Given the description of an element on the screen output the (x, y) to click on. 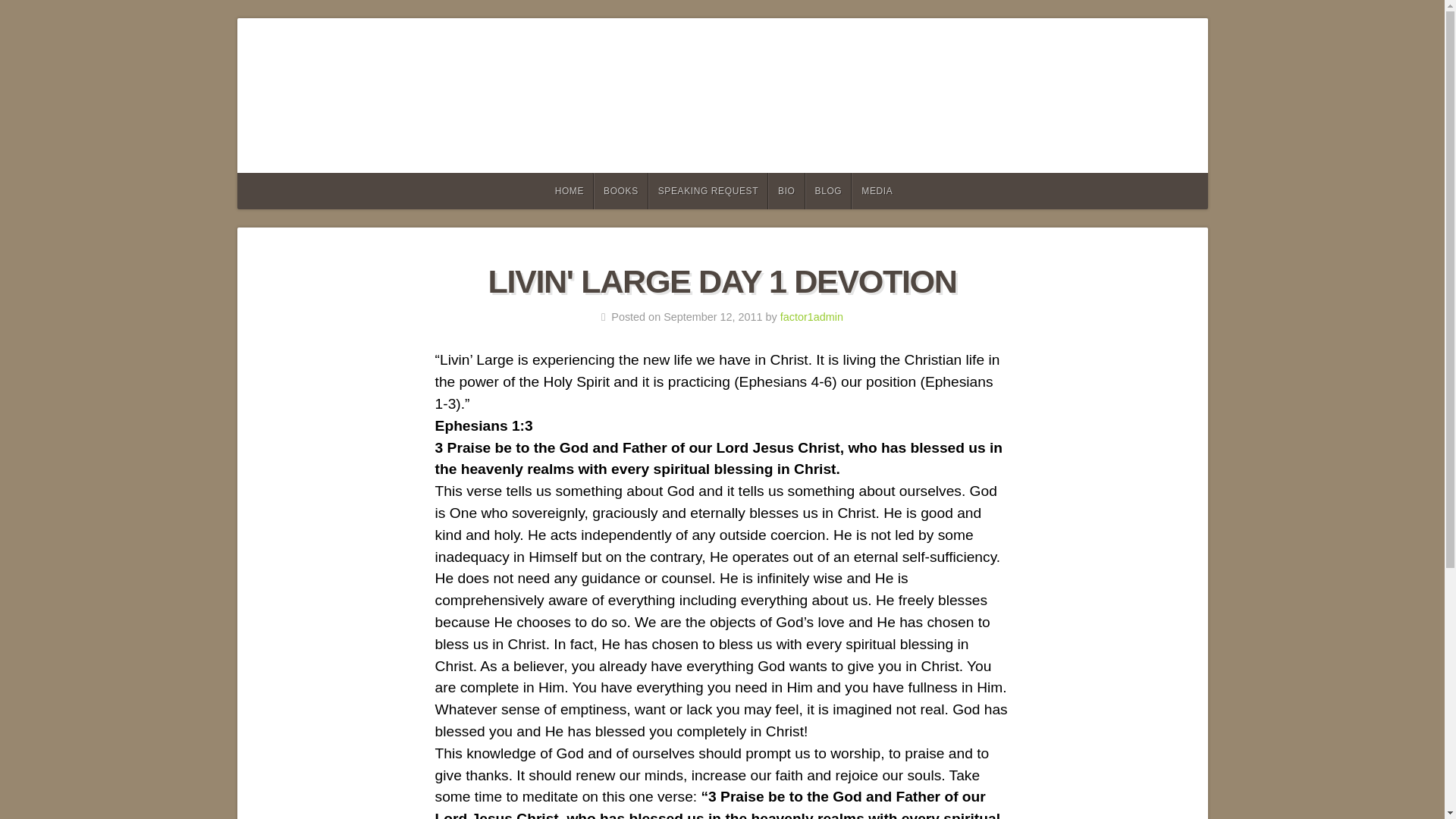
Posts by factor1admin (811, 316)
factor1admin (811, 316)
HOME (568, 190)
BIO (786, 190)
SPEAKING REQUEST (707, 190)
BOOKS (620, 190)
MEDIA (876, 190)
BLOG (828, 190)
